Given the description of an element on the screen output the (x, y) to click on. 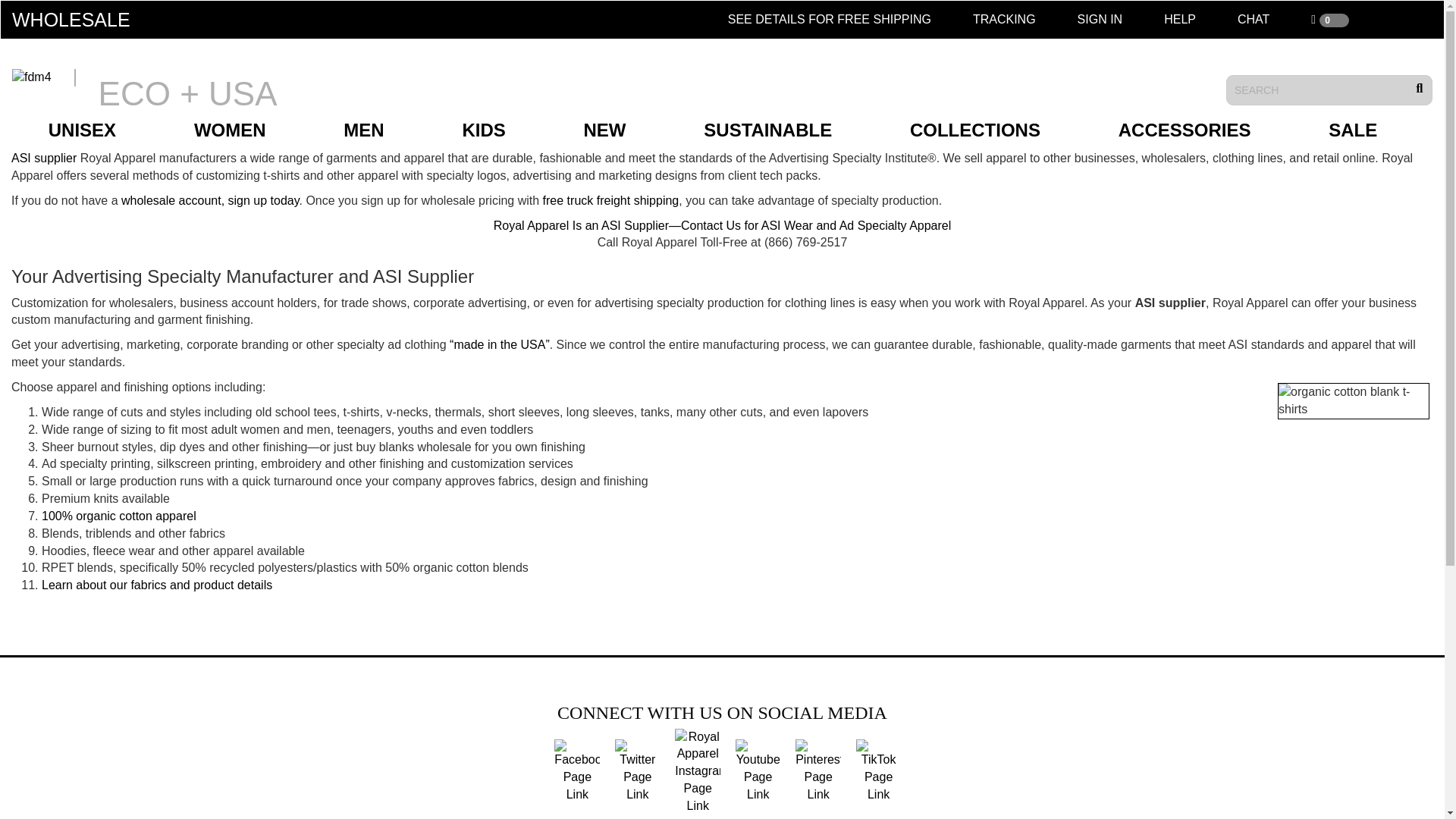
HELP (1189, 19)
TRACKING (1012, 19)
Visit us on Pinterest (817, 770)
SIGN IN (1109, 19)
Youtube (757, 770)
Follow us on Instagram (697, 770)
0 (1341, 19)
WHOLESALE (85, 19)
Visit us on TikTok (878, 770)
UNISEX (92, 130)
